Given the description of an element on the screen output the (x, y) to click on. 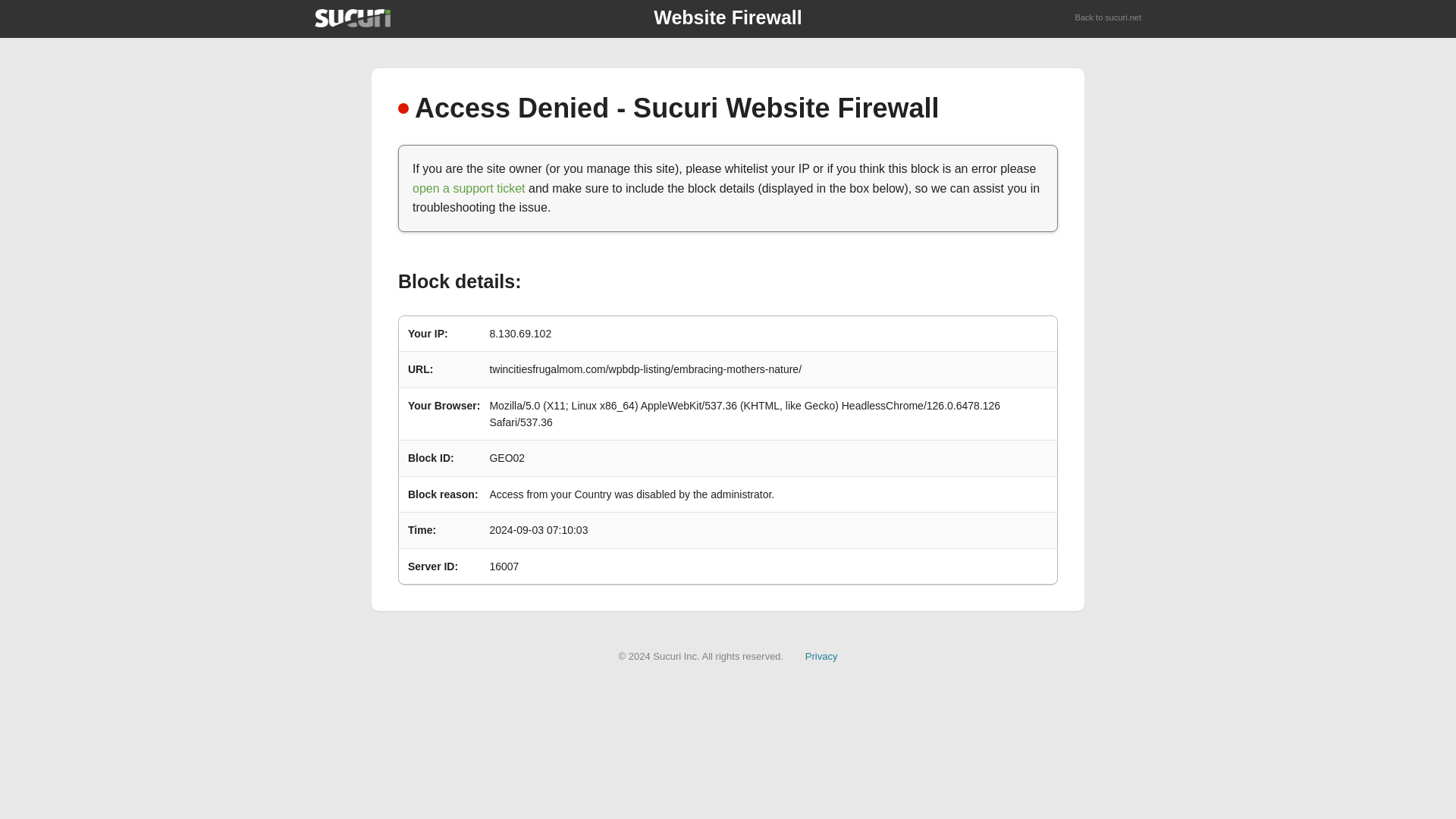
Privacy (821, 655)
Back to sucuri.net (1108, 18)
open a support ticket (468, 187)
